Given the description of an element on the screen output the (x, y) to click on. 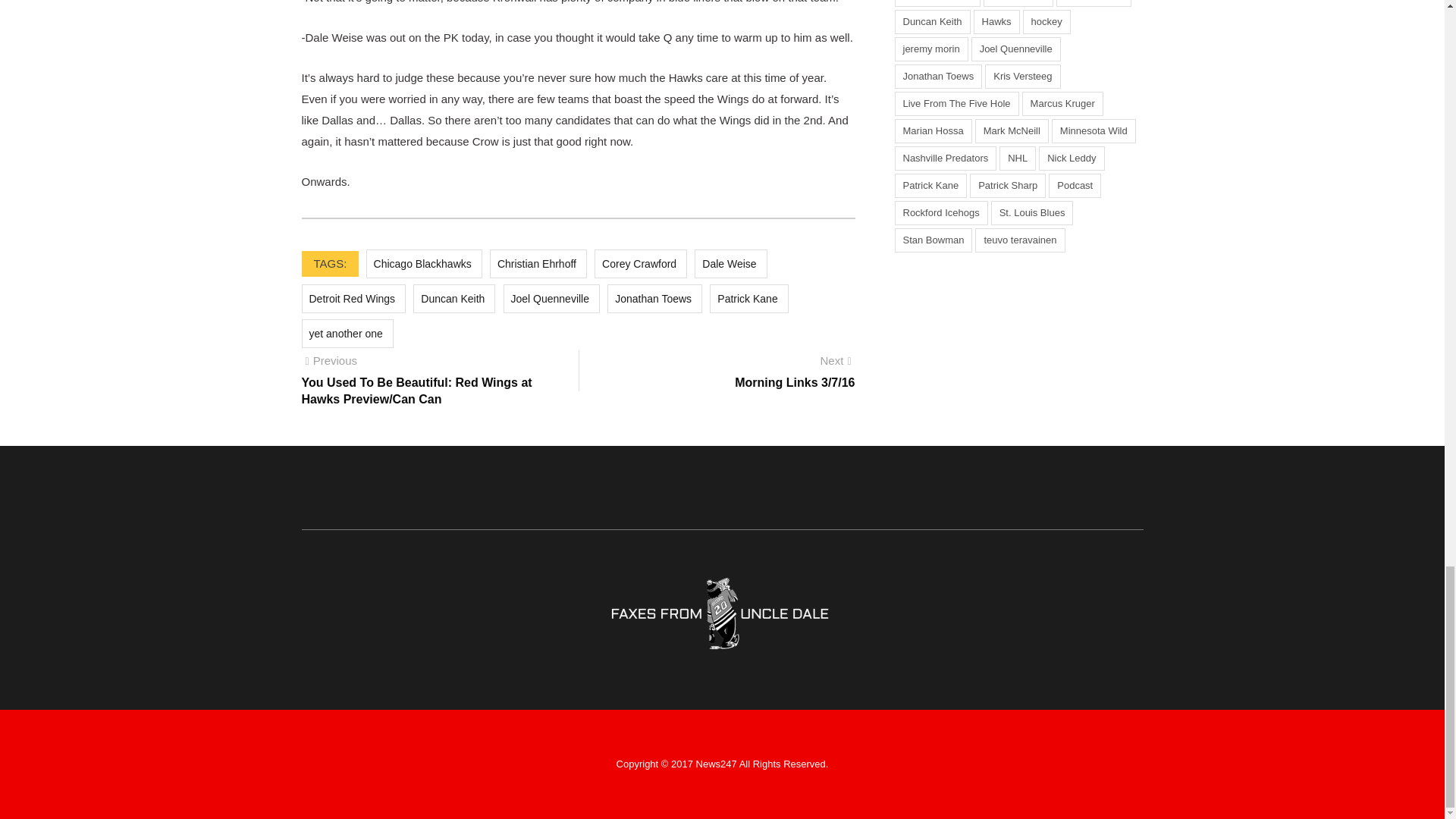
Patrick Kane (748, 298)
yet another one (347, 333)
Chicago Blackhawks (423, 263)
Dale Weise (730, 263)
Duncan Keith (454, 298)
Christian Ehrhoff (537, 263)
Jonathan Toews (654, 298)
Joel Quenneville (551, 298)
Detroit Red Wings (353, 298)
Corey Crawford (640, 263)
